Given the description of an element on the screen output the (x, y) to click on. 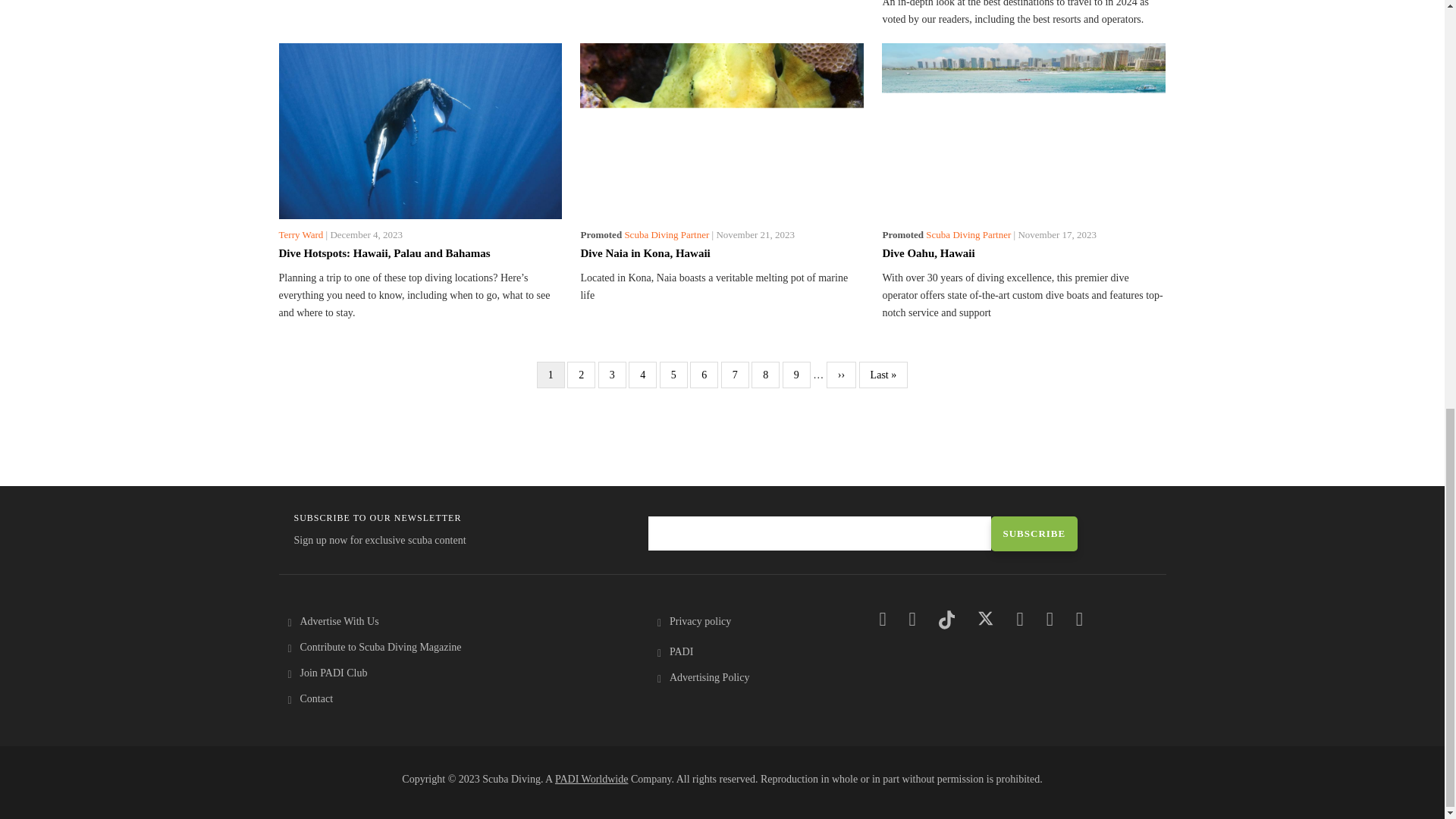
Subscribe (1033, 533)
Current page (550, 374)
Go to page 2 (581, 374)
Go to page 5 (673, 374)
Go to last page (883, 374)
Go to page 4 (642, 374)
Terry Ward (301, 234)
Go to page 8 (764, 374)
Go to next page (841, 374)
Go to page 7 (734, 374)
